Given the description of an element on the screen output the (x, y) to click on. 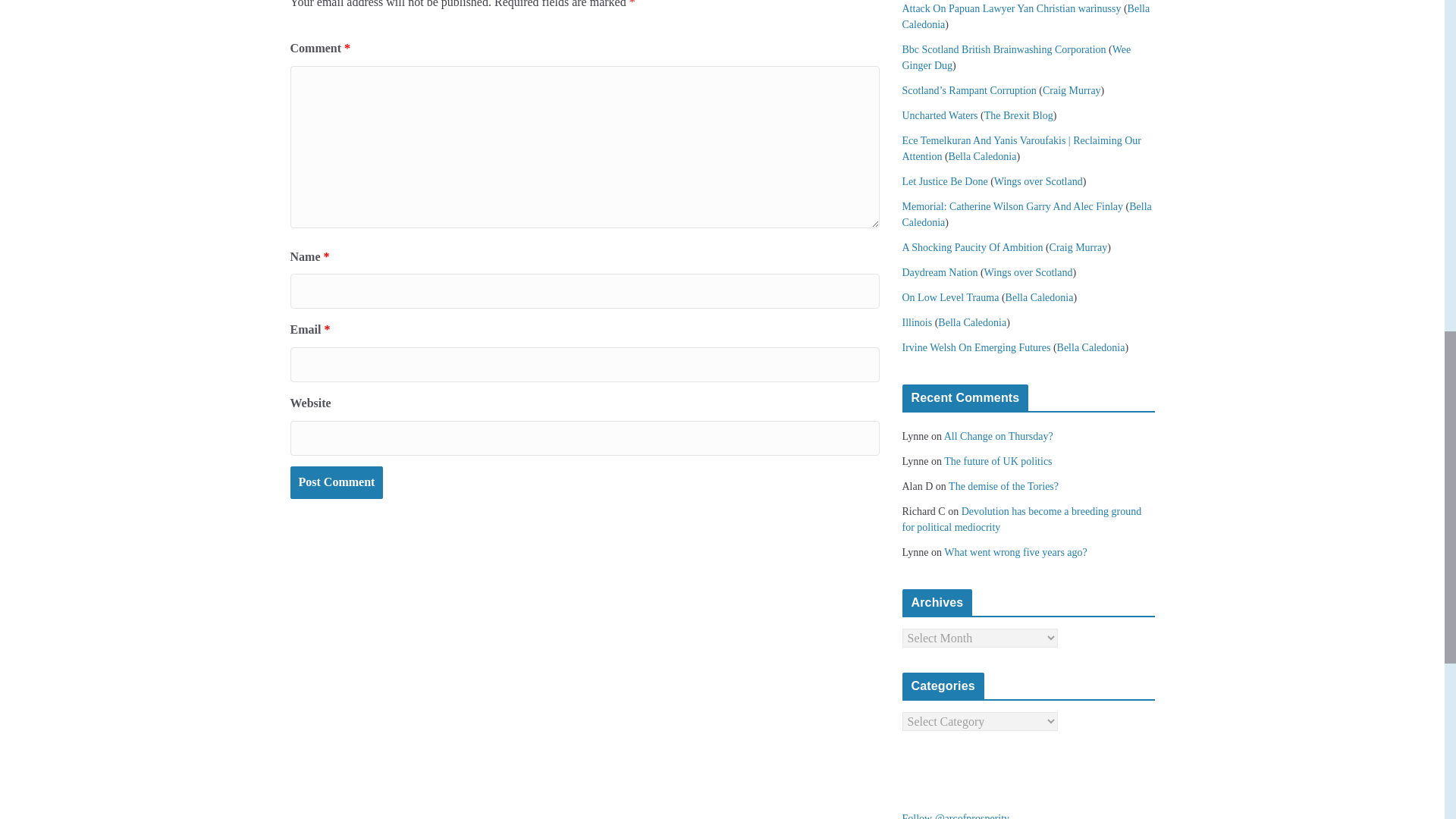
Post Comment (335, 482)
Bbc Scotland British Brainwashing Corporation (1004, 49)
Craig Murray (1071, 90)
Wee Ginger Dug (1016, 57)
Attack On Papuan Lawyer Yan Christian warinussy (1011, 8)
The Brexit Blog (1018, 115)
Bella Caledonia (1026, 16)
Post Comment (335, 482)
Bella Caledonia (982, 156)
Uncharted Waters (940, 115)
